Given the description of an element on the screen output the (x, y) to click on. 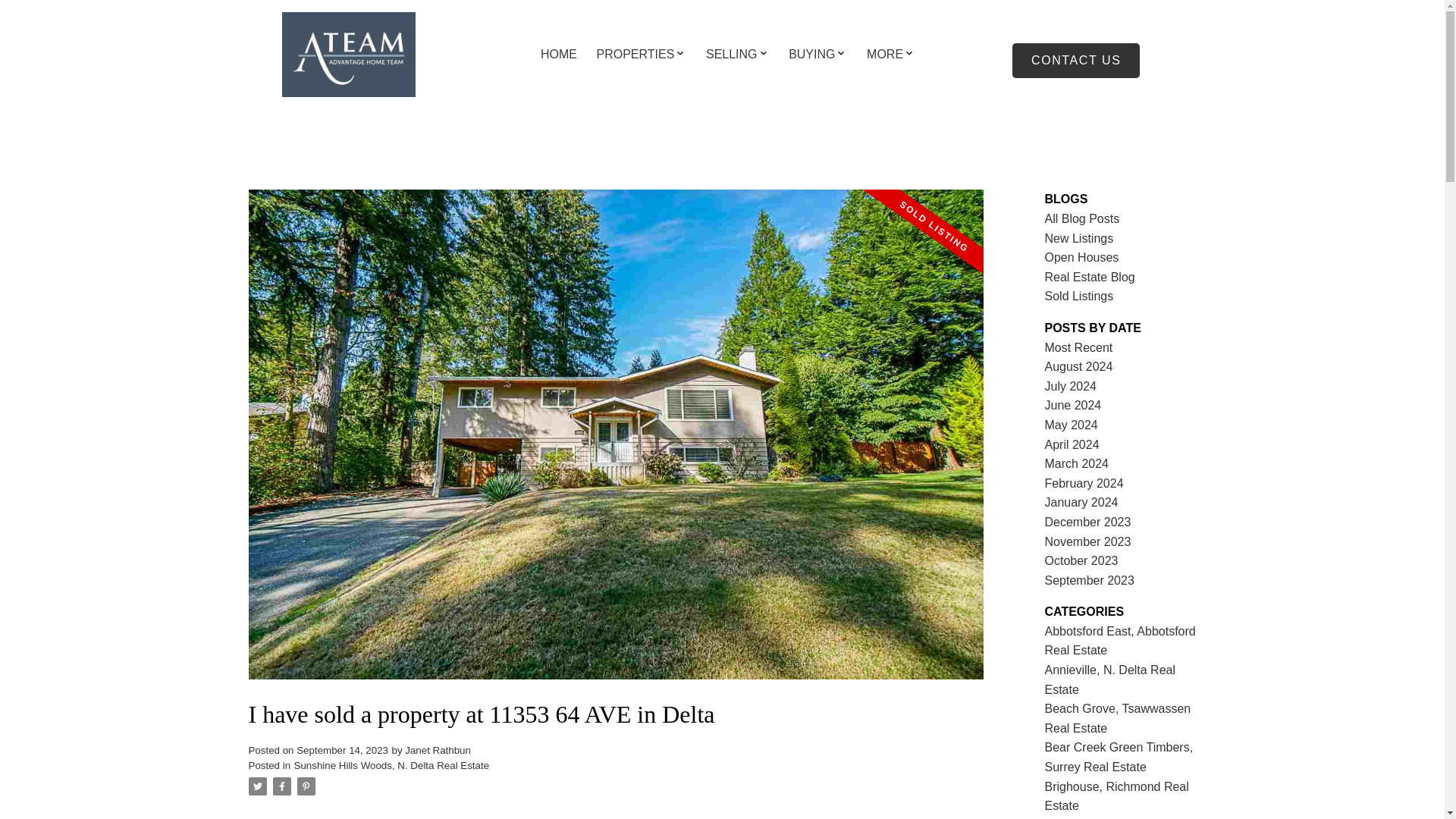
Sunshine Hills Woods, N. Delta Real Estate (391, 765)
HOME (558, 55)
BUYING (811, 55)
PROPERTIES (635, 55)
SELLING (731, 55)
CONTACT US (1075, 60)
